Given the description of an element on the screen output the (x, y) to click on. 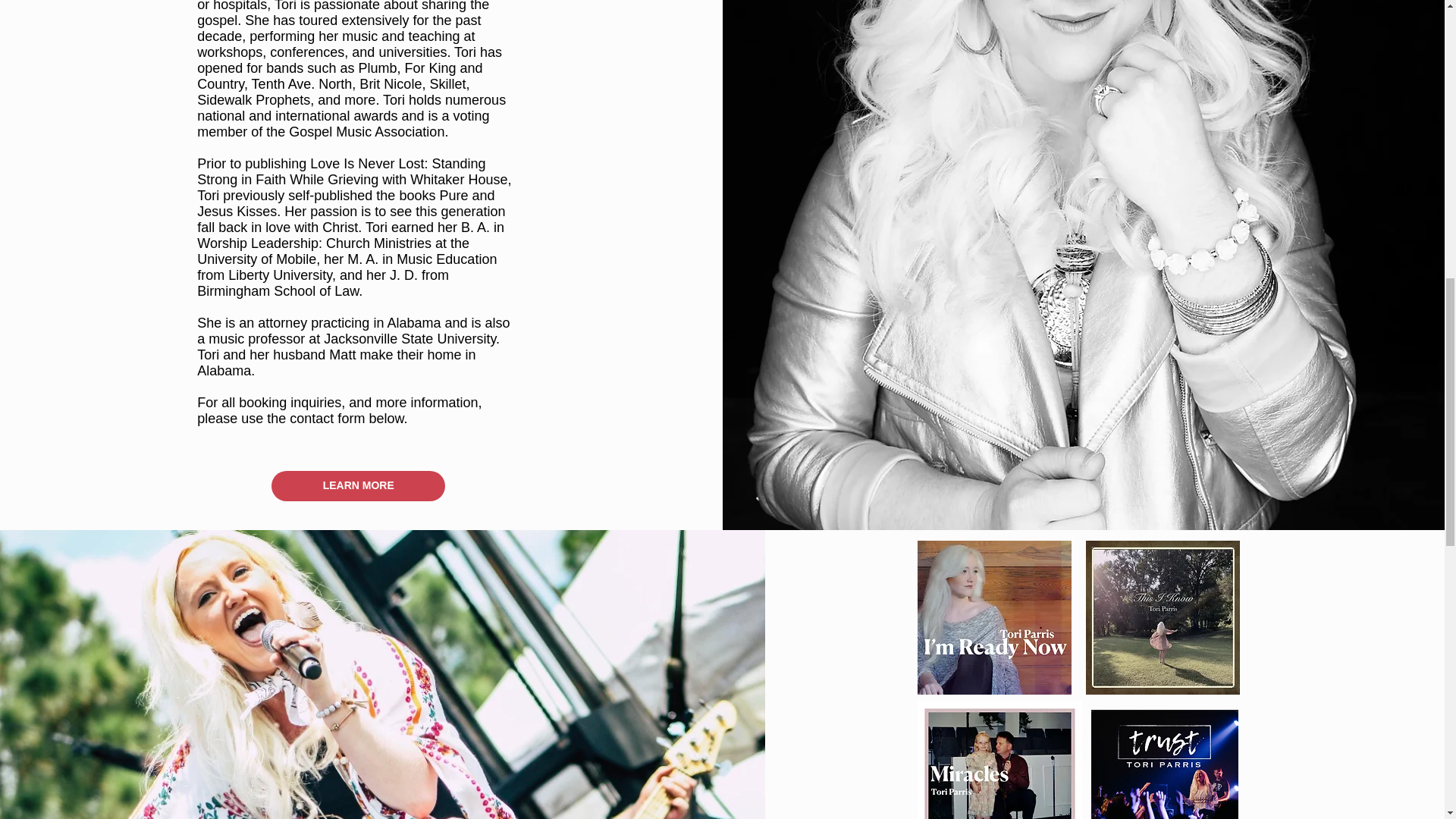
This I Know.001.jpeg (1163, 616)
Screen Shot 2023-05-13 at 2.18.31 PM.png (1164, 764)
LEARN MORE (357, 485)
I'm Ready Now Artwork.001.jpeg (994, 616)
Miracles - Daddy's Song.001.jpeg (999, 760)
